Given the description of an element on the screen output the (x, y) to click on. 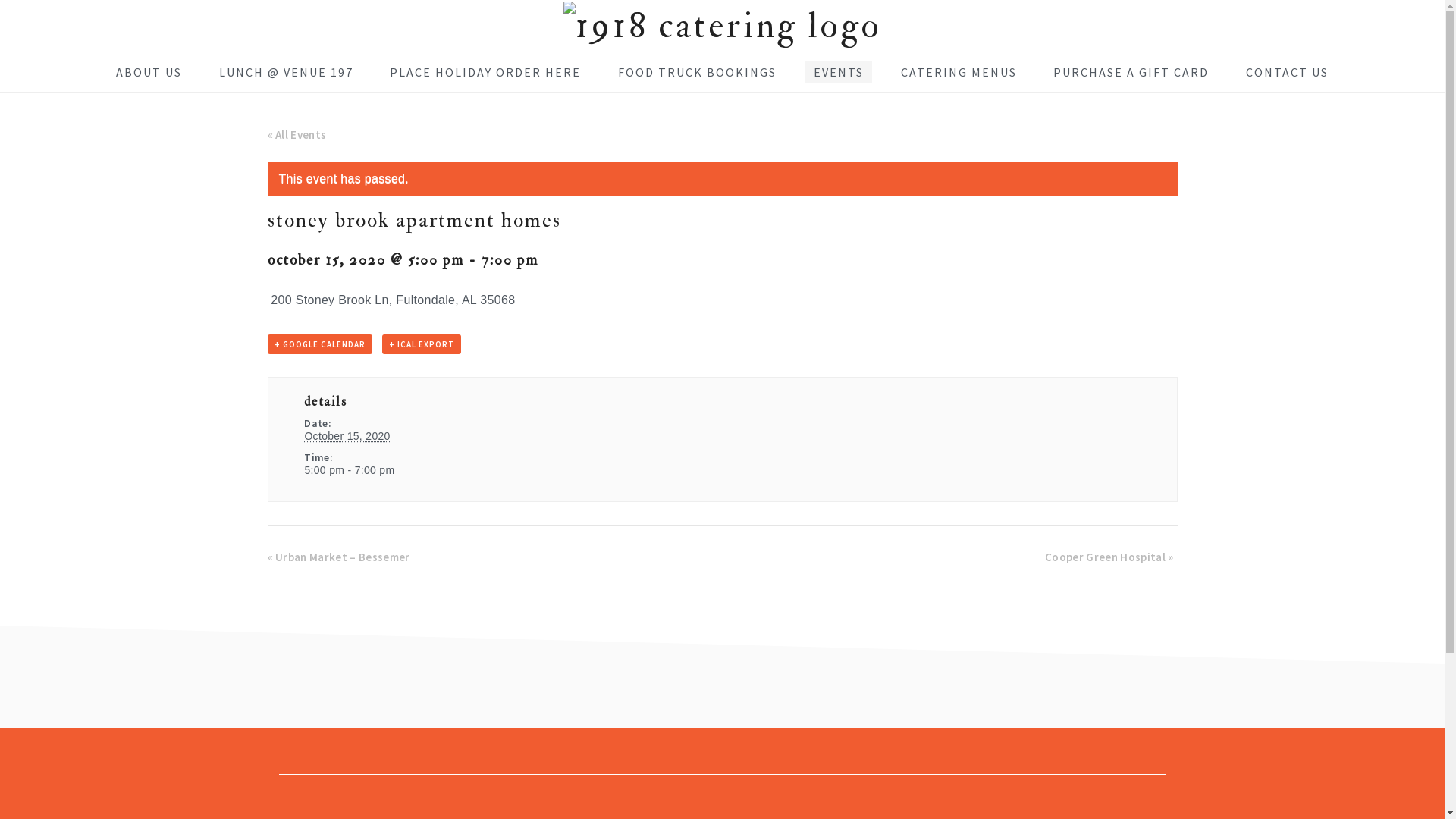
CATERING MENUS Element type: text (958, 71)
EVENTS Element type: text (838, 71)
+ GOOGLE CALENDAR Element type: text (318, 344)
1918 Catering Element type: hover (721, 25)
ABOUT US Element type: text (148, 71)
LUNCH @ VENUE 197 Element type: text (285, 71)
PURCHASE A GIFT CARD Element type: text (1130, 71)
+ ICAL EXPORT Element type: text (421, 344)
FOOD TRUCK BOOKINGS Element type: text (696, 71)
1918 Catering Element type: hover (721, 26)
PLACE HOLIDAY ORDER HERE Element type: text (485, 71)
Skip to main content Element type: text (0, 0)
CONTACT US Element type: text (1286, 71)
